Given the description of an element on the screen output the (x, y) to click on. 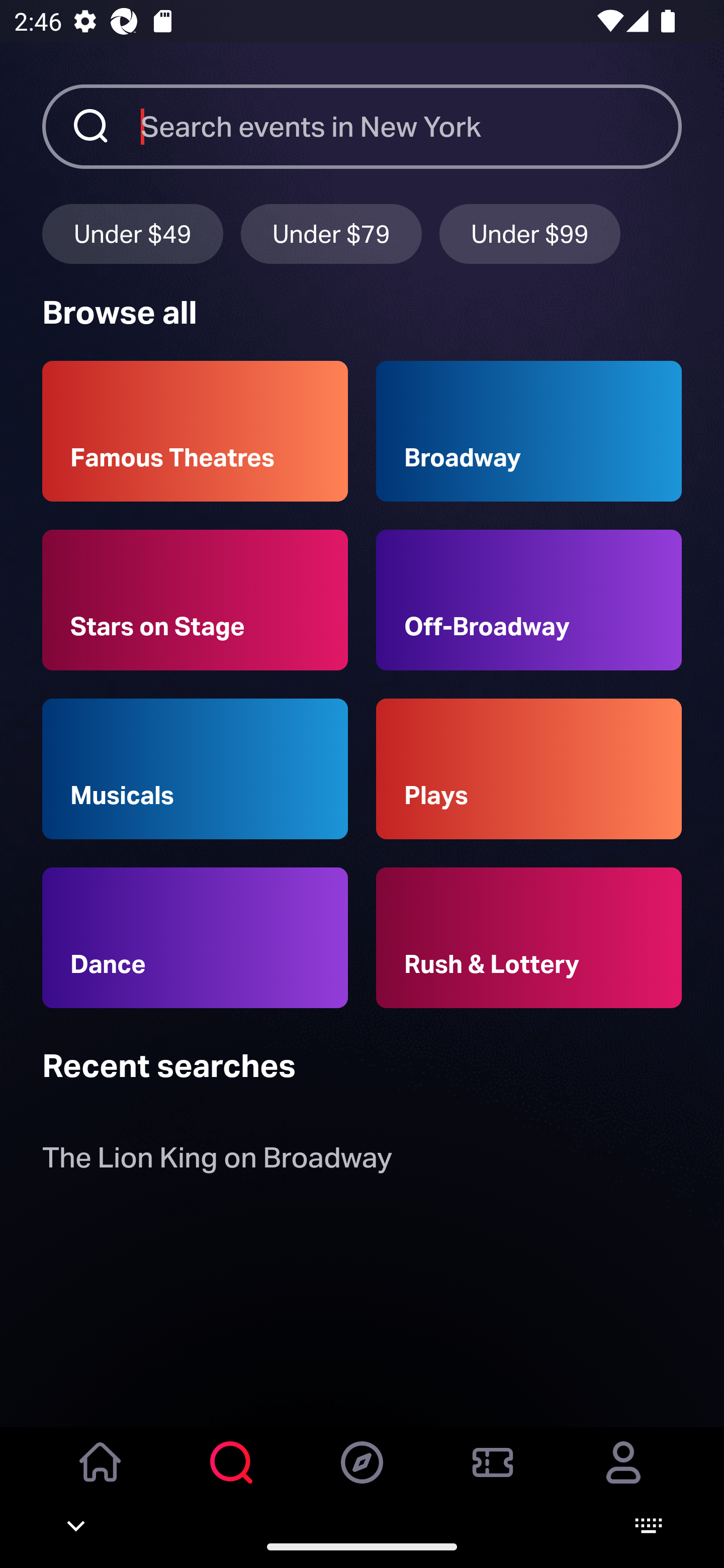
Search events in New York (411, 126)
Under $49 (131, 233)
Under $79 (331, 233)
Under $99 (529, 233)
Famous Theatres (194, 430)
Broadway (528, 430)
Stars on Stage (194, 600)
Off-Broadway (528, 600)
Musicals (194, 768)
Plays (528, 768)
Dance (194, 937)
Rush & Lottery (528, 937)
The Lion King on Broadway (216, 1161)
Home (100, 1475)
Discover (361, 1475)
Orders (492, 1475)
Account (623, 1475)
